Given the description of an element on the screen output the (x, y) to click on. 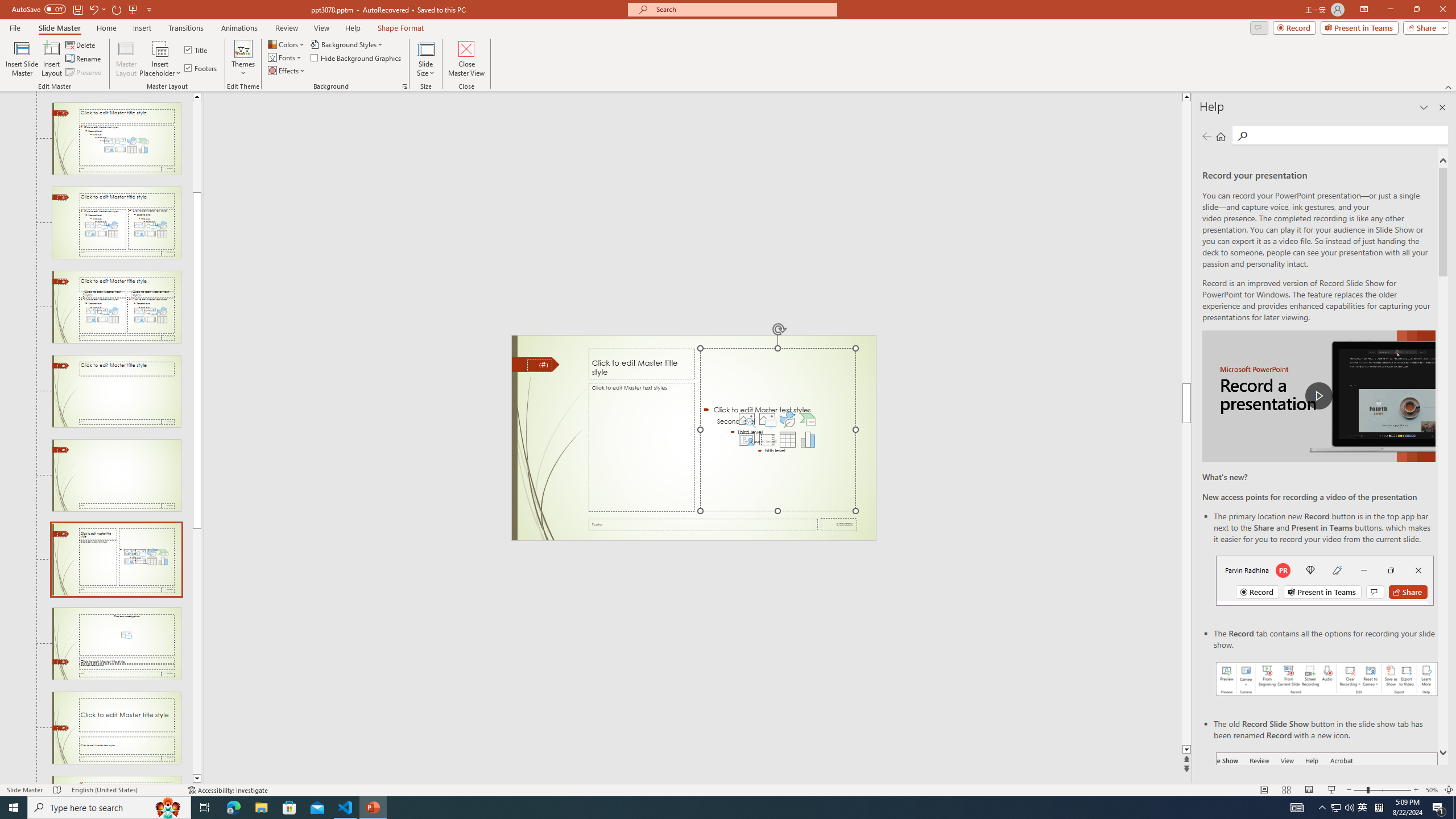
Insert Slide Master (21, 58)
Previous page (1206, 136)
